Given the description of an element on the screen output the (x, y) to click on. 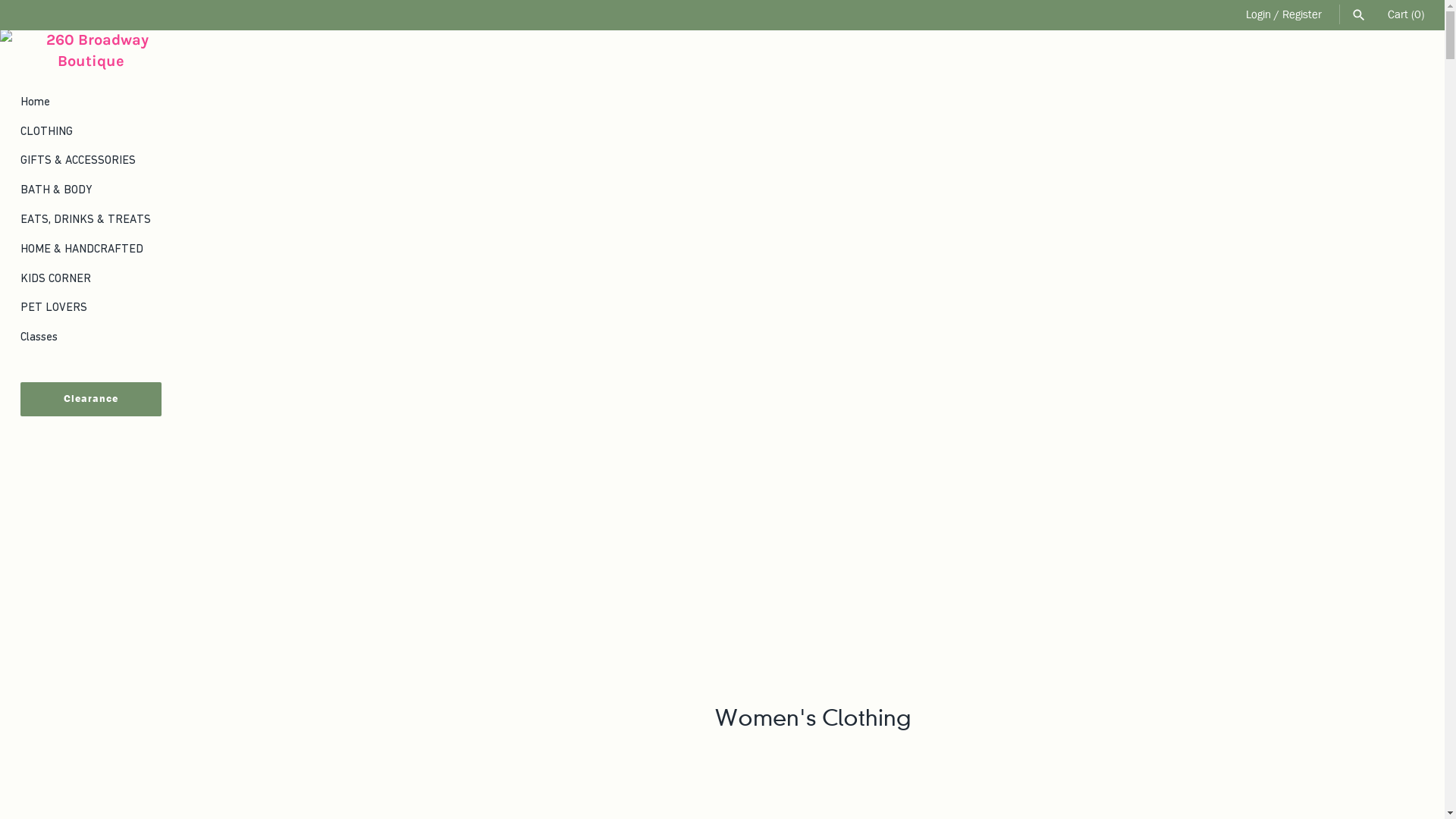
Women's Clothing Element type: text (813, 717)
Register Element type: text (1301, 13)
BATH & BODY Element type: text (90, 189)
260 Broadway Boutique Element type: hover (91, 50)
EATS, DRINKS & TREATS Element type: text (90, 219)
HOME & HANDCRAFTED Element type: text (90, 248)
CLOTHING Element type: text (90, 131)
Login Element type: text (1257, 13)
PET LOVERS Element type: text (90, 307)
Clearance Element type: text (90, 399)
Classes Element type: text (90, 336)
KIDS CORNER Element type: text (90, 278)
Home Element type: text (90, 101)
GIFTS & ACCESSORIES Element type: text (90, 160)
Cart (0) Element type: text (1405, 13)
